Given the description of an element on the screen output the (x, y) to click on. 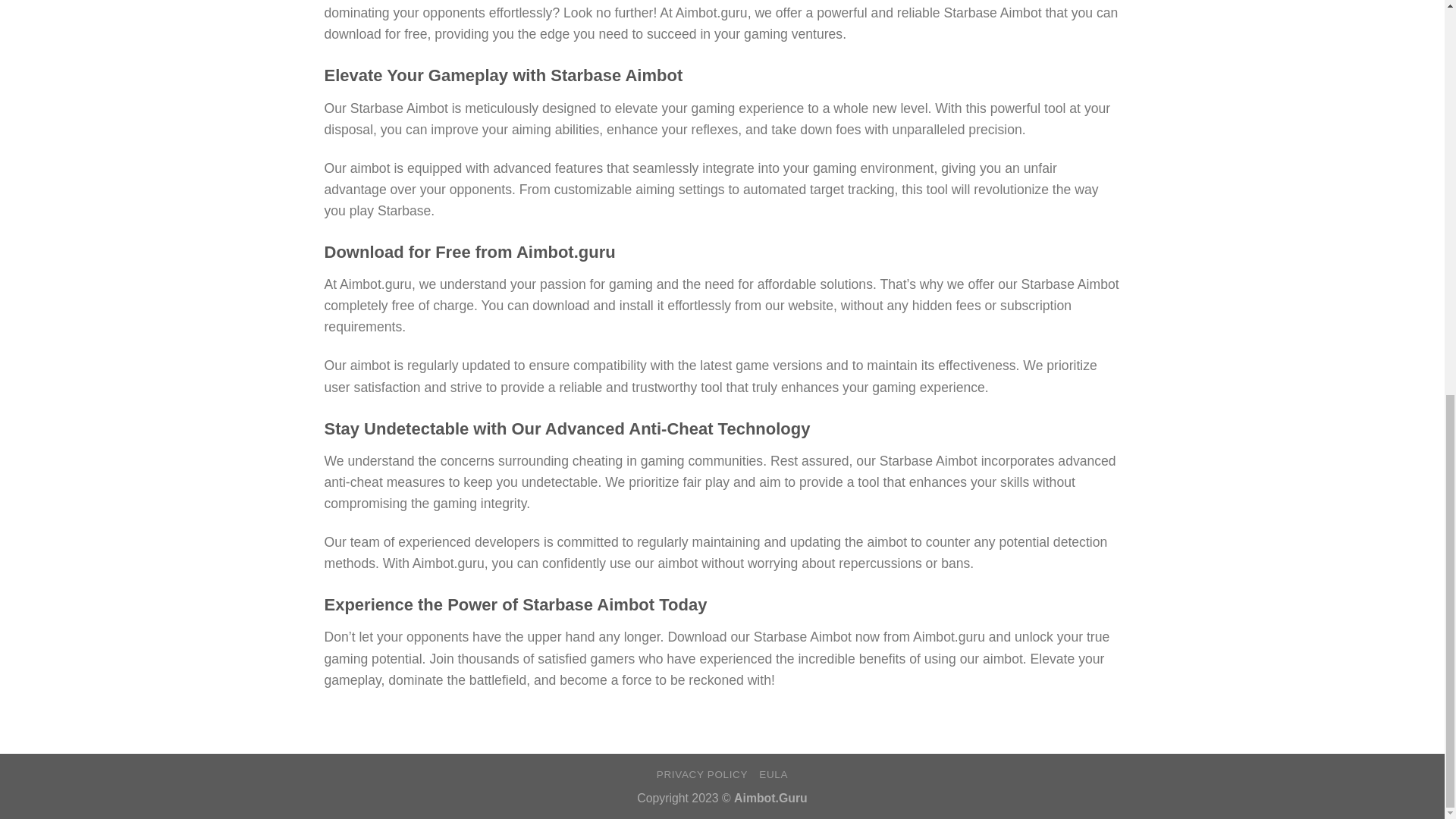
EULA (772, 774)
PRIVACY POLICY (702, 774)
